Given the description of an element on the screen output the (x, y) to click on. 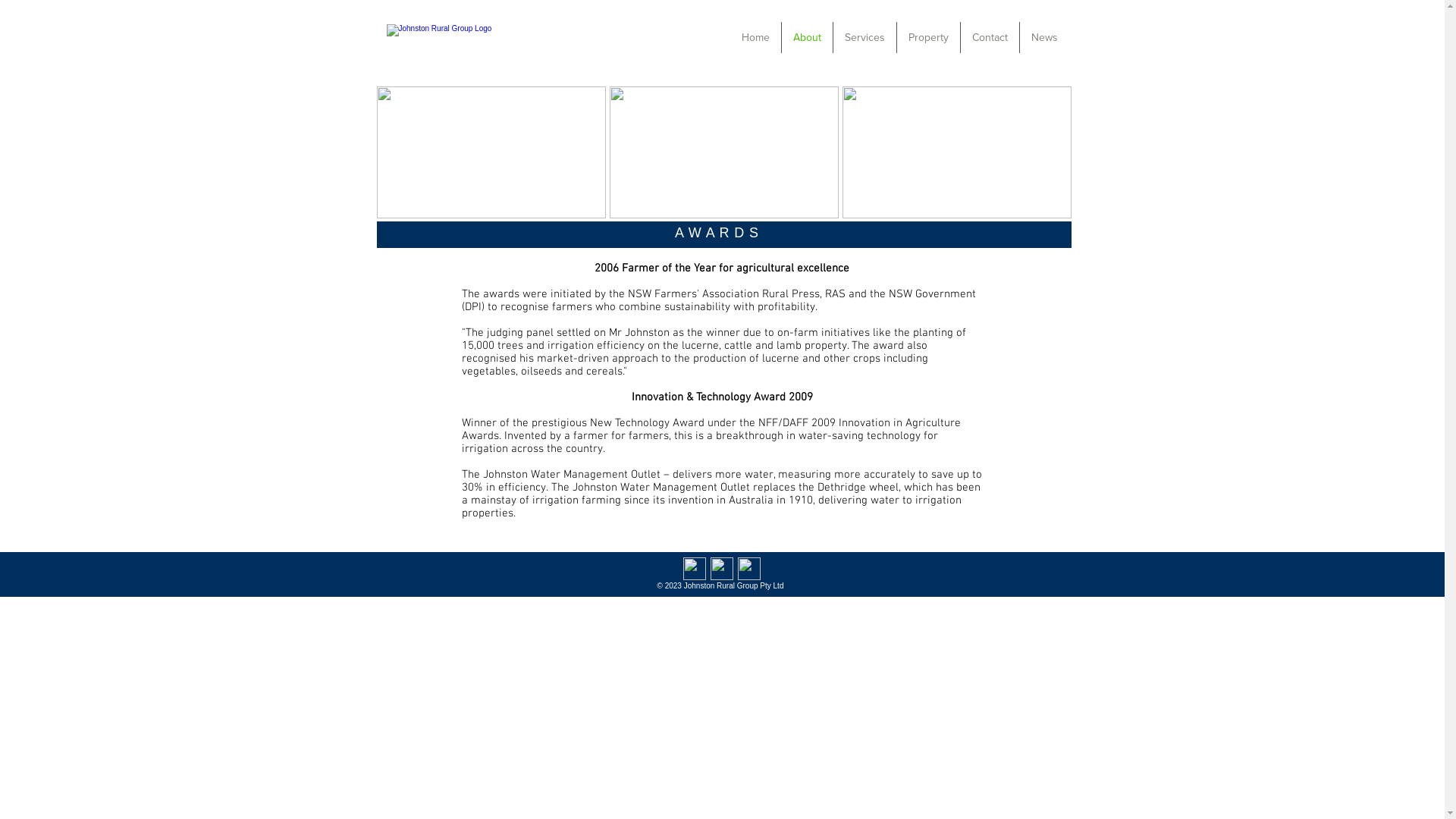
Contact Element type: text (989, 37)
News Element type: text (1043, 37)
Home Element type: text (754, 37)
Property Element type: text (927, 37)
About Element type: text (806, 37)
